Given the description of an element on the screen output the (x, y) to click on. 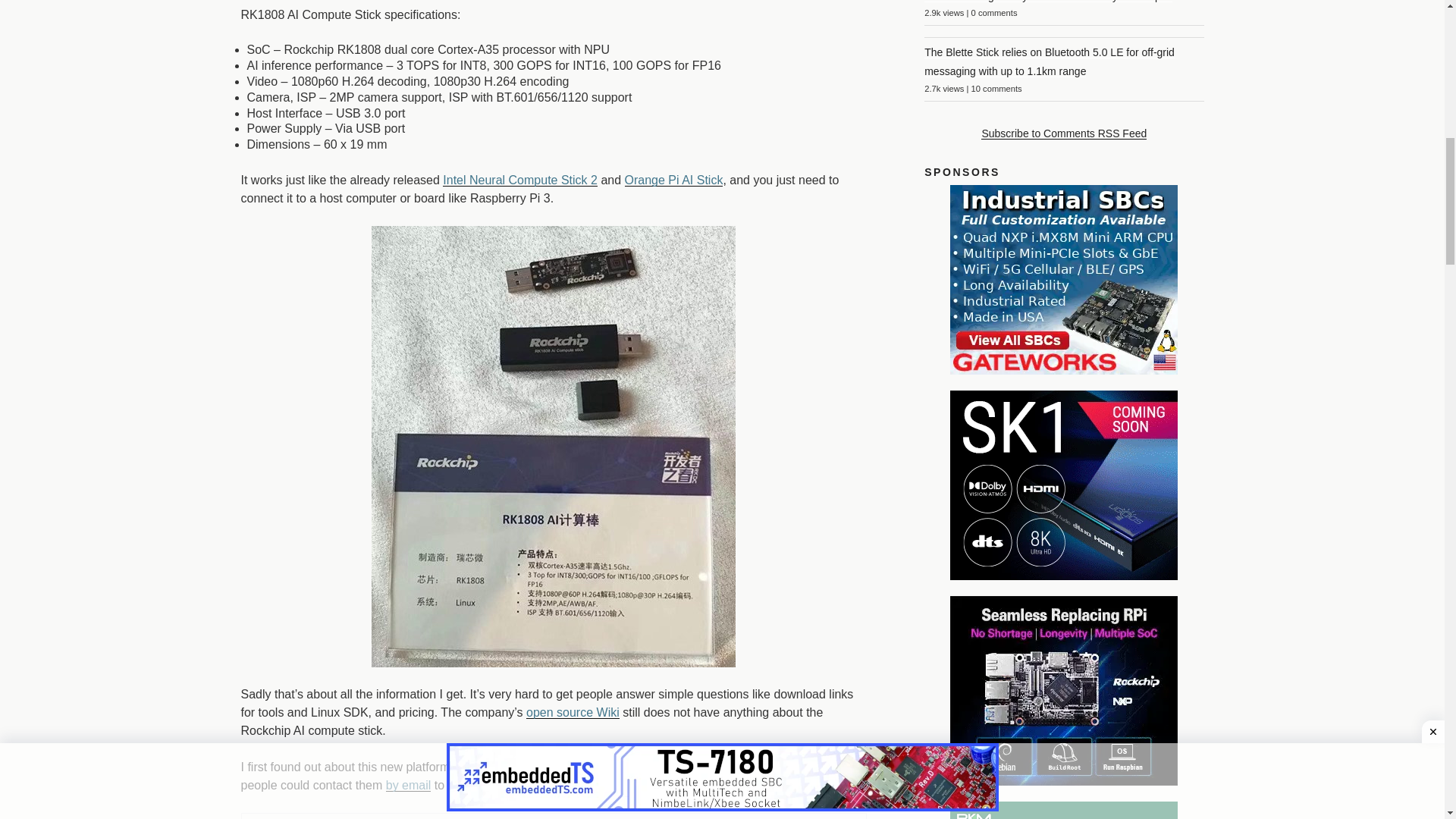
Intel Neural Compute Stick 2 (519, 179)
open source Wiki (572, 712)
Orange Pi AI Stick (673, 179)
Rockchip Korea Facebook account (564, 766)
